Given the description of an element on the screen output the (x, y) to click on. 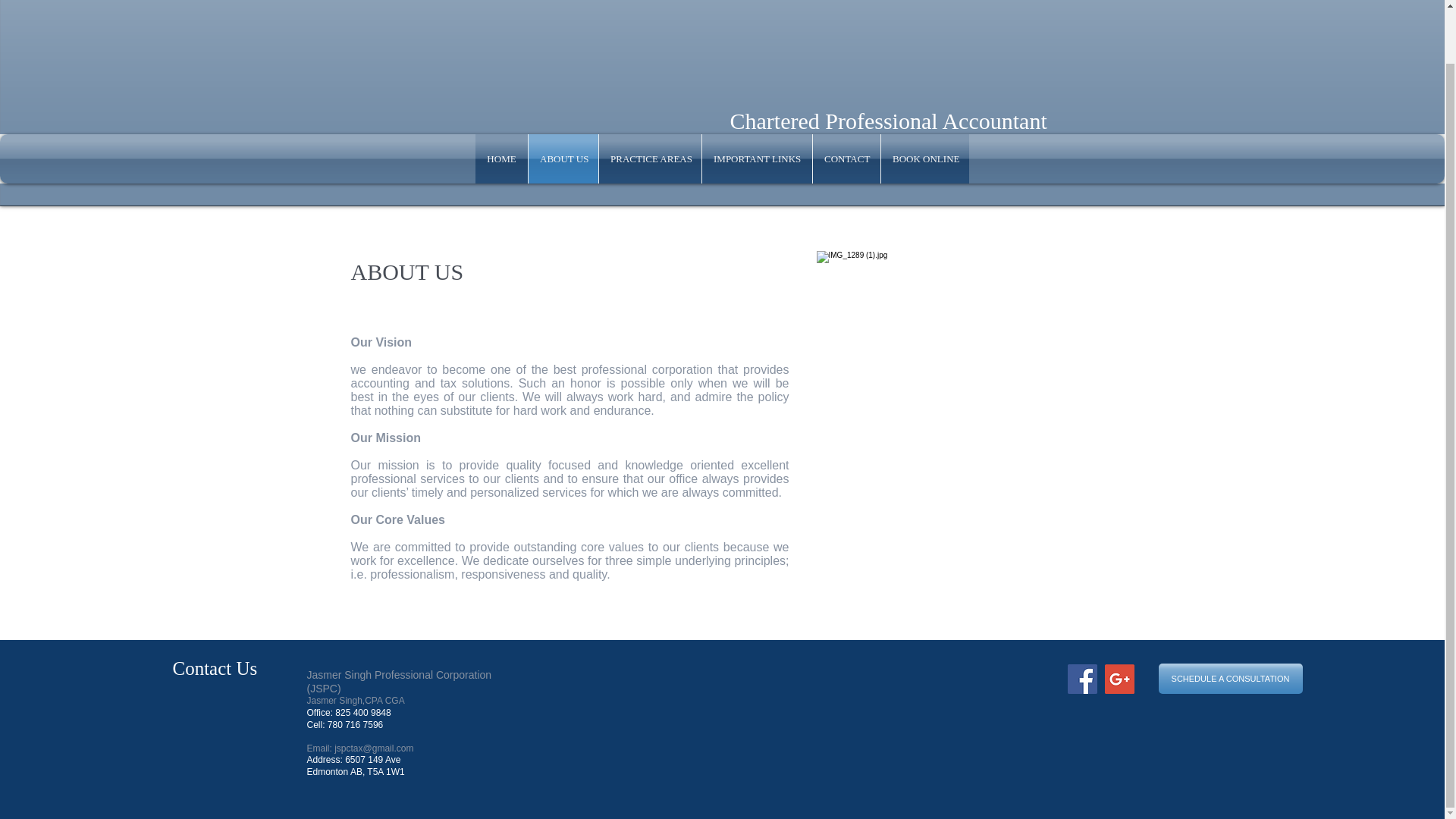
IMPORTANT LINKS (756, 158)
SCHEDULE A CONSULTATION (1230, 678)
ABOUT US (563, 158)
BOOK ONLINE (924, 158)
Pic 2.JPG (954, 428)
HOME (501, 158)
CONTACT (846, 158)
PRACTICE AREAS (649, 158)
